Given the description of an element on the screen output the (x, y) to click on. 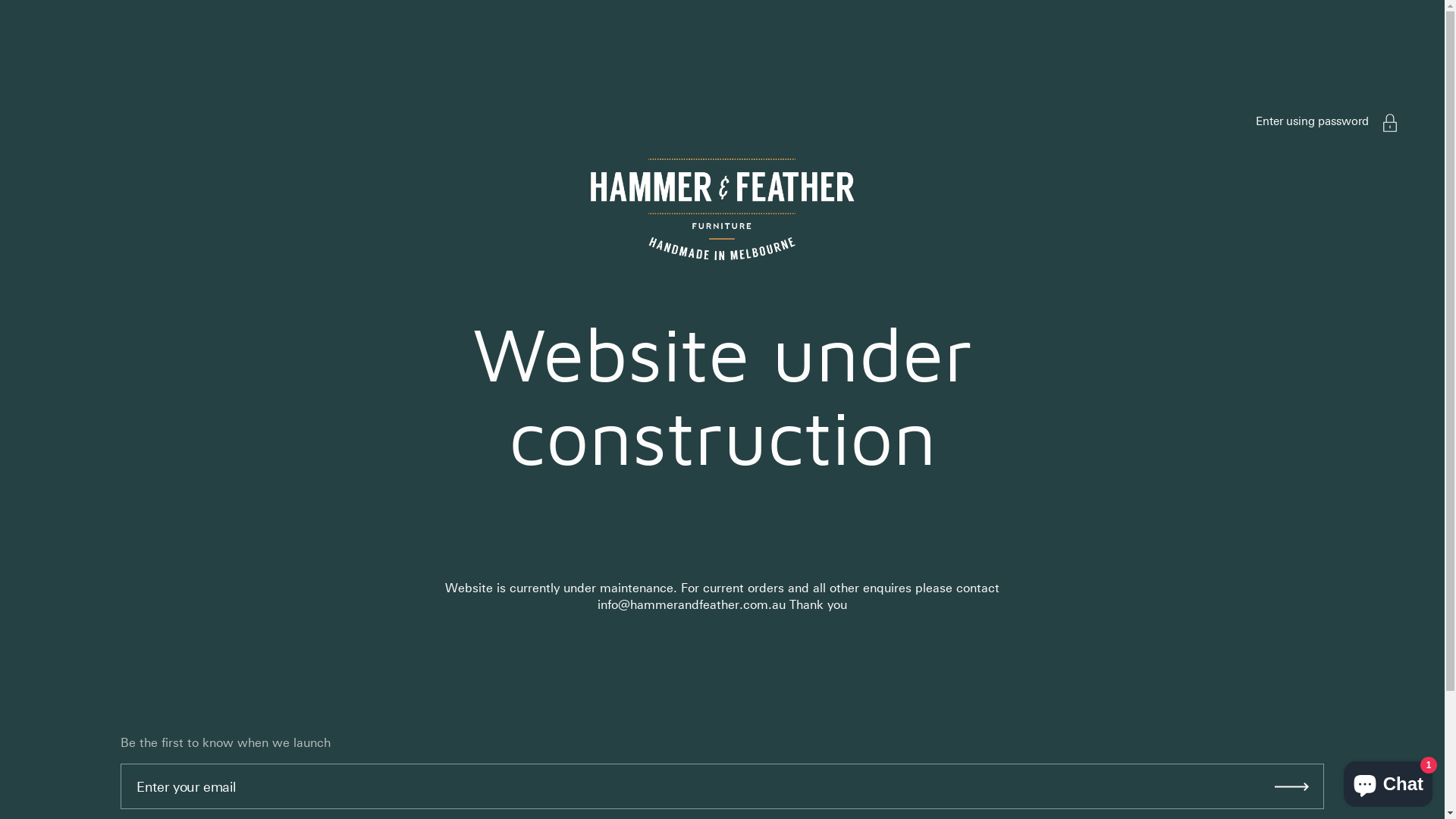
Shopify online store chat Element type: hover (1388, 780)
Submit Element type: text (1291, 786)
Enter using password Element type: text (1311, 121)
Hammer and Feather Element type: hover (722, 209)
Skip to content Element type: text (0, 83)
